Given the description of an element on the screen output the (x, y) to click on. 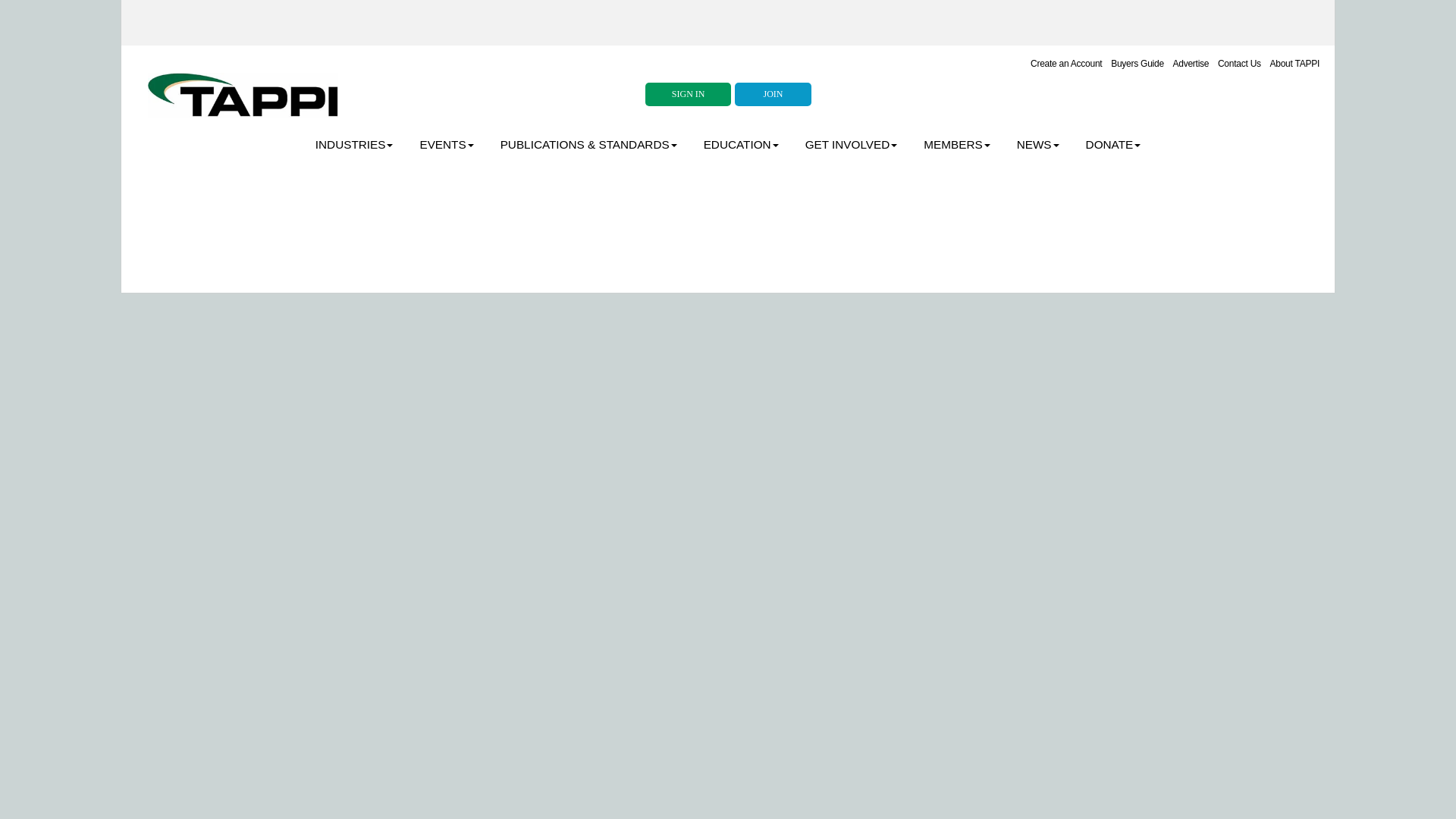
Advertise (1190, 63)
Events (445, 144)
Contact Us (1238, 63)
Buyers Guide (1136, 63)
JOIN (772, 94)
About TAPPI (1294, 63)
About TAPPI (1294, 63)
Contact Us (1238, 63)
EVENTS (445, 144)
Create an Account (1057, 63)
